Given the description of an element on the screen output the (x, y) to click on. 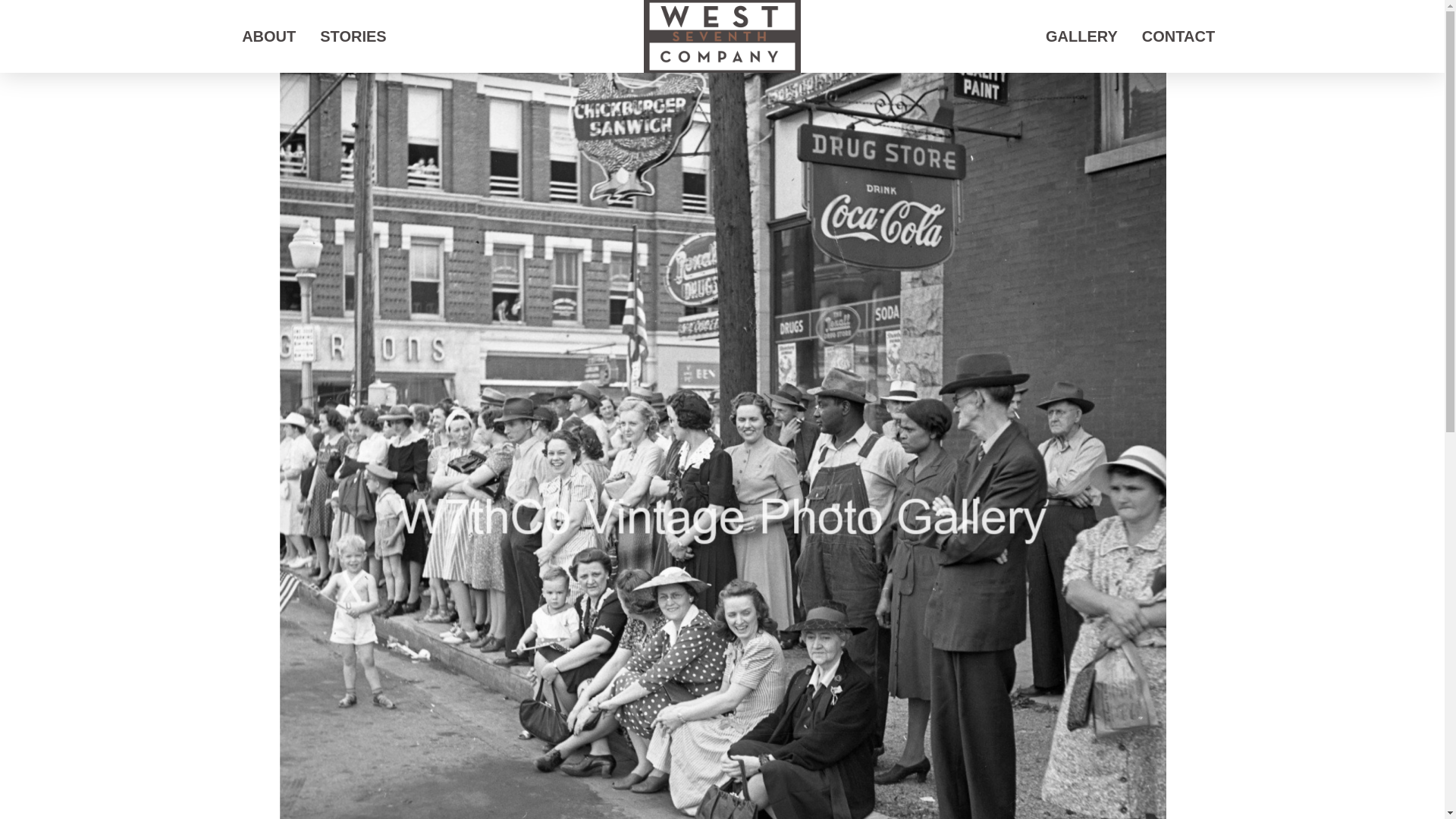
W7thCo Vintage Photo Gallery (1081, 36)
CONTACT (1178, 36)
STORIES (352, 36)
GALLERY (1081, 36)
Get in touch with us (1178, 36)
ABOUT (268, 36)
learn more about W7thCo (268, 36)
